Given the description of an element on the screen output the (x, y) to click on. 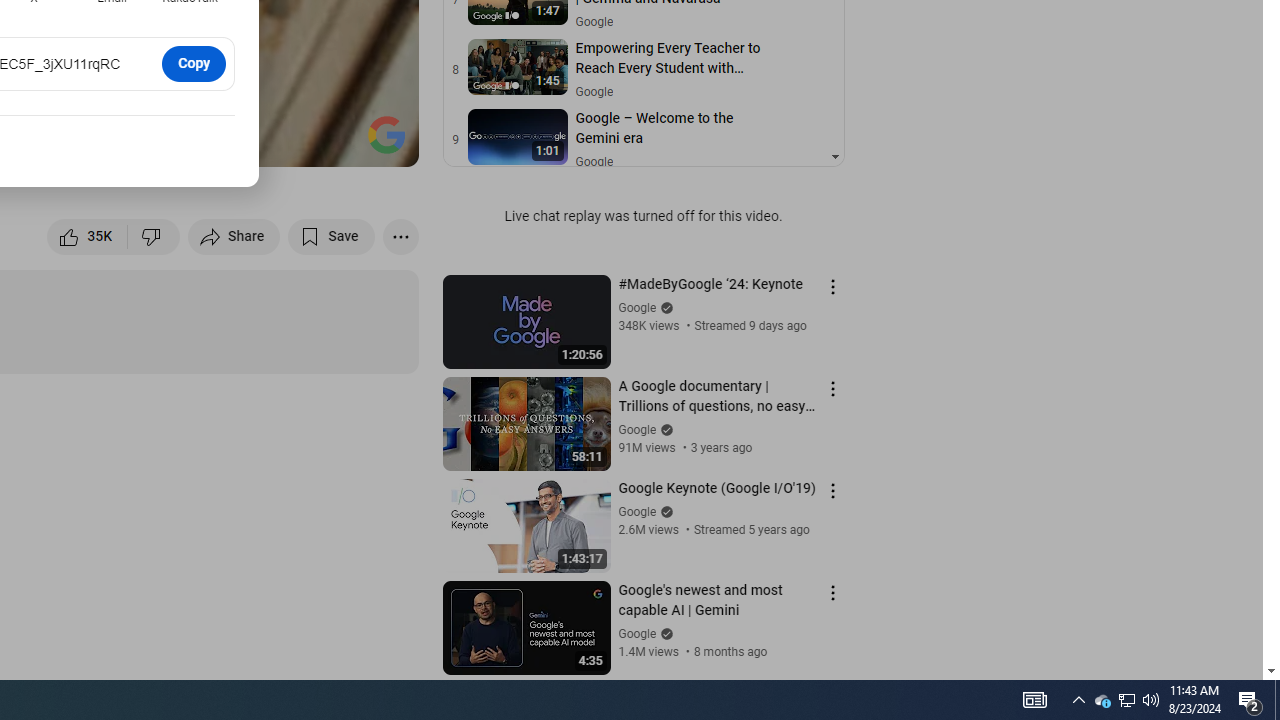
Subtitles/closed captions unavailable (190, 142)
Full screen (f) (382, 142)
Share (234, 236)
Theater mode (t) (333, 142)
Action menu (832, 592)
More actions (399, 236)
like this video along with 35,367 other people (88, 236)
Verified (664, 632)
Dislike this video (154, 236)
Miniplayer (i) (286, 142)
